Given the description of an element on the screen output the (x, y) to click on. 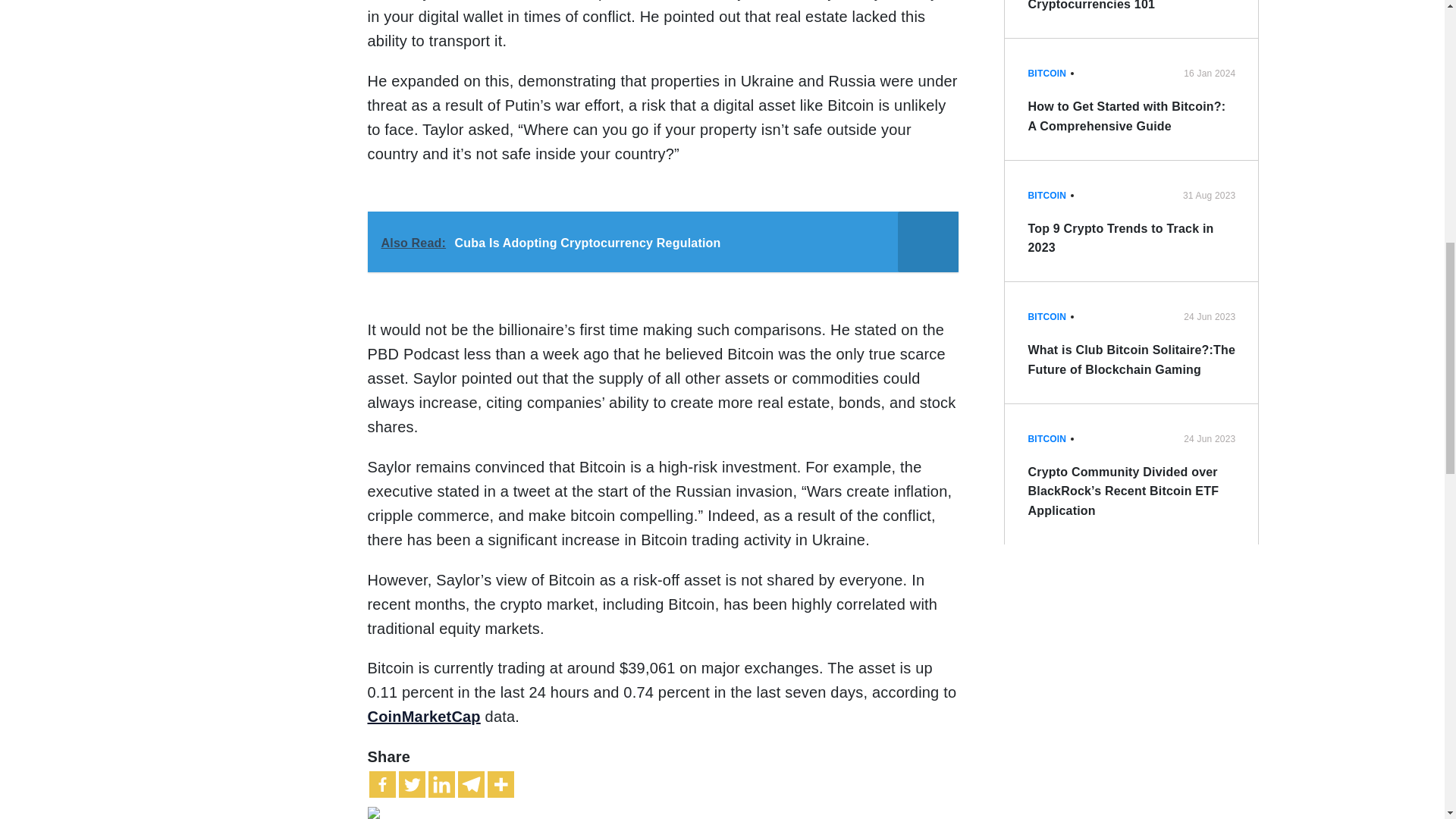
Linkedin (441, 784)
Twitter (411, 784)
Telegram (471, 784)
Facebook (381, 784)
More (499, 784)
Also Read:  Cuba Is Adopting Cryptocurrency Regulation (662, 241)
CoinMarketCap (423, 716)
